Given the description of an element on the screen output the (x, y) to click on. 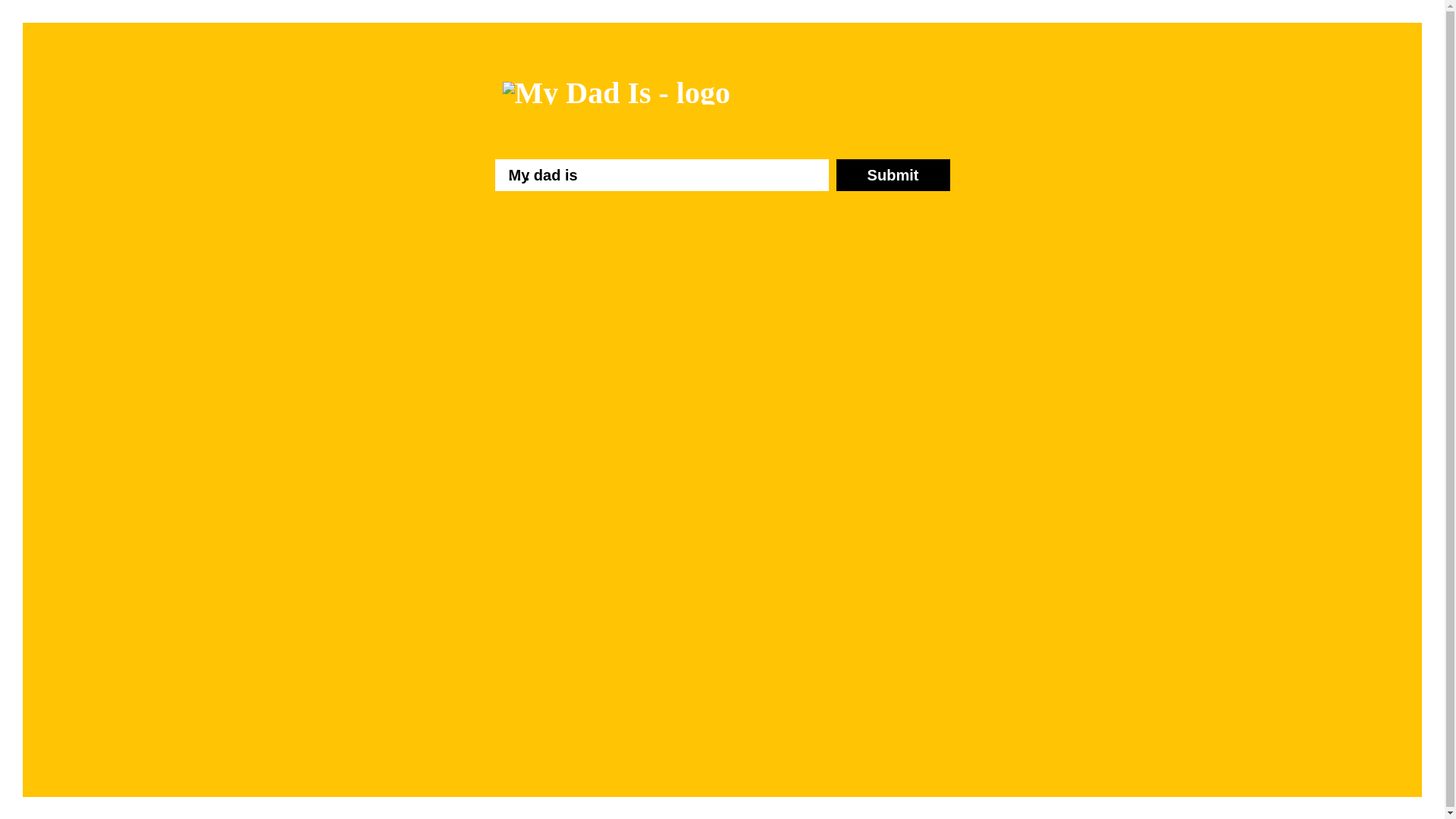
Submit Element type: text (892, 175)
